Given the description of an element on the screen output the (x, y) to click on. 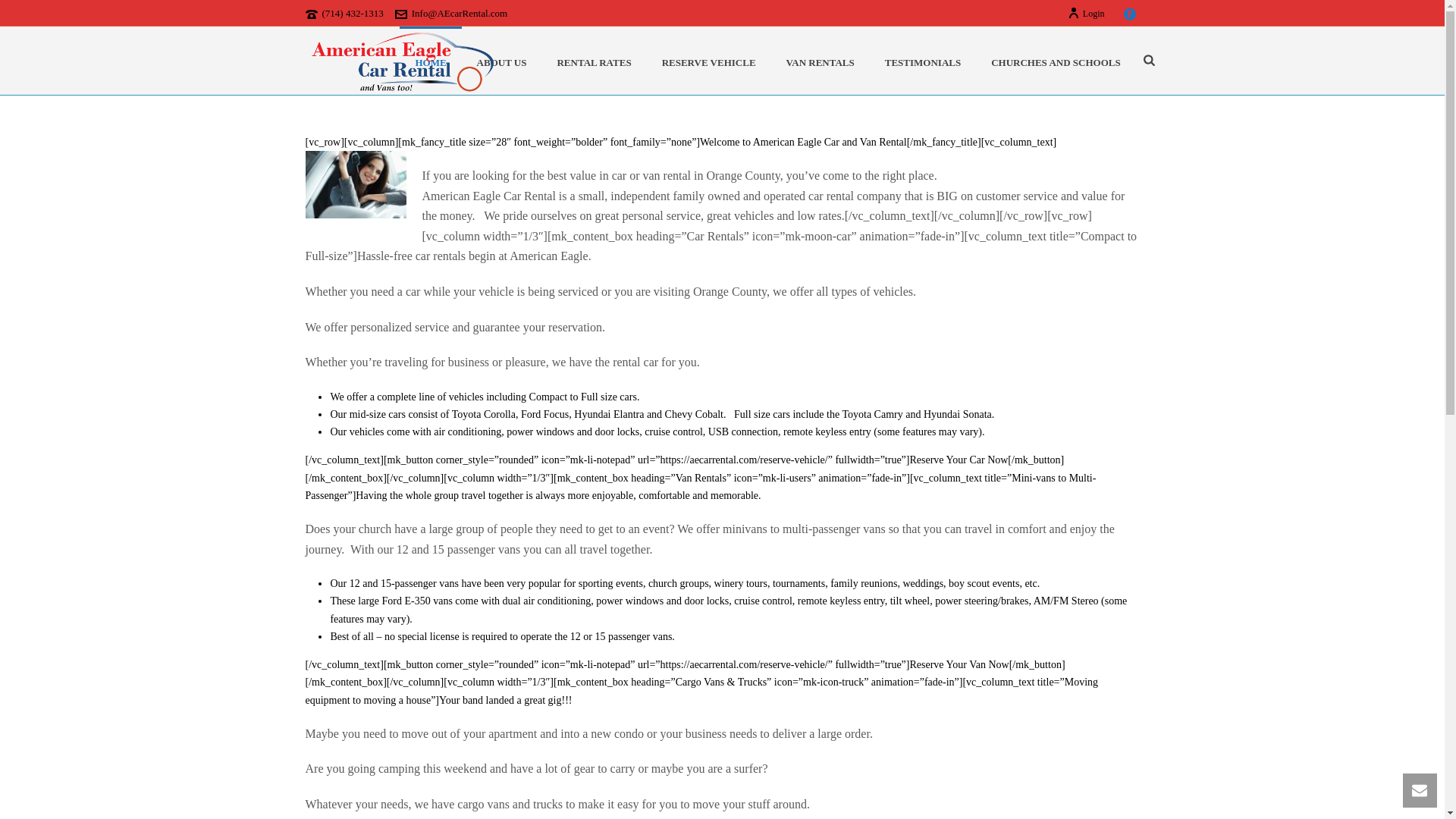
ABOUT US (501, 60)
ABOUT US (501, 60)
TESTIMONIALS (922, 60)
VAN RENTALS (820, 60)
RENTAL RATES (593, 60)
HOME (429, 60)
Cars and Vans Rental (401, 60)
RENTAL RATES (593, 60)
TESTIMONIALS (922, 60)
CHURCHES AND SCHOOLS (1055, 60)
Login (1086, 13)
HOME (429, 60)
RESERVE VEHICLE (708, 60)
VAN RENTALS (820, 60)
RESERVE VEHICLE (708, 60)
